Given the description of an element on the screen output the (x, y) to click on. 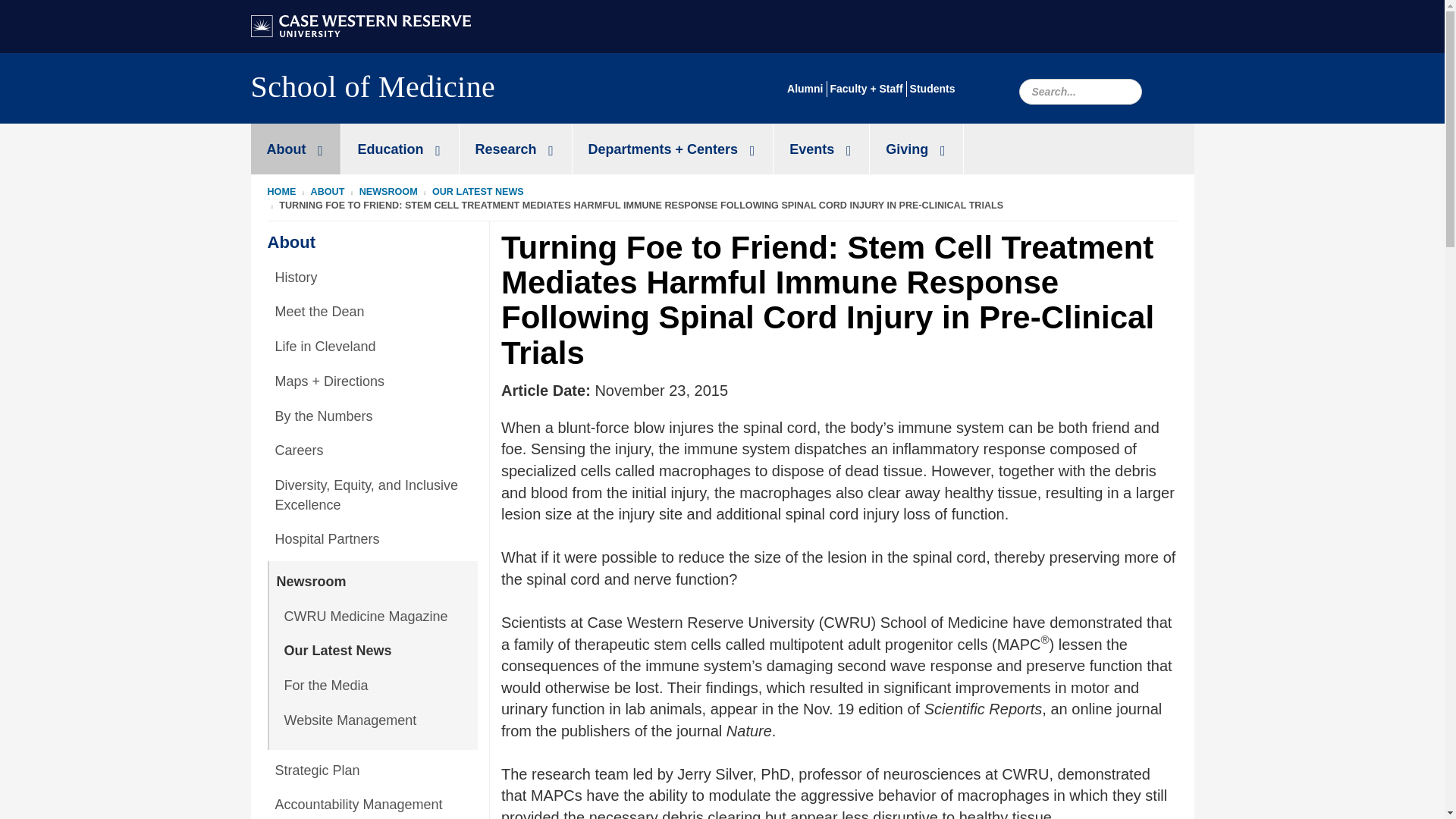
About (295, 148)
Go to case.edu (360, 24)
searchbox (1080, 91)
Case Western Reserve University (360, 25)
Alumni (804, 88)
School of Medicine (372, 91)
Education (399, 148)
Students (932, 88)
Research (516, 148)
